Given the description of an element on the screen output the (x, y) to click on. 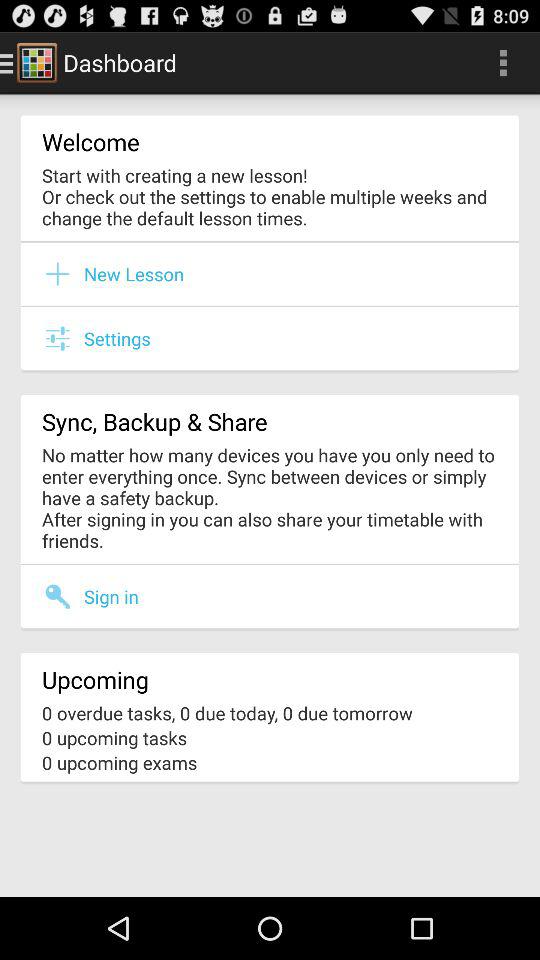
tap icon next to the sign in app (63, 596)
